Given the description of an element on the screen output the (x, y) to click on. 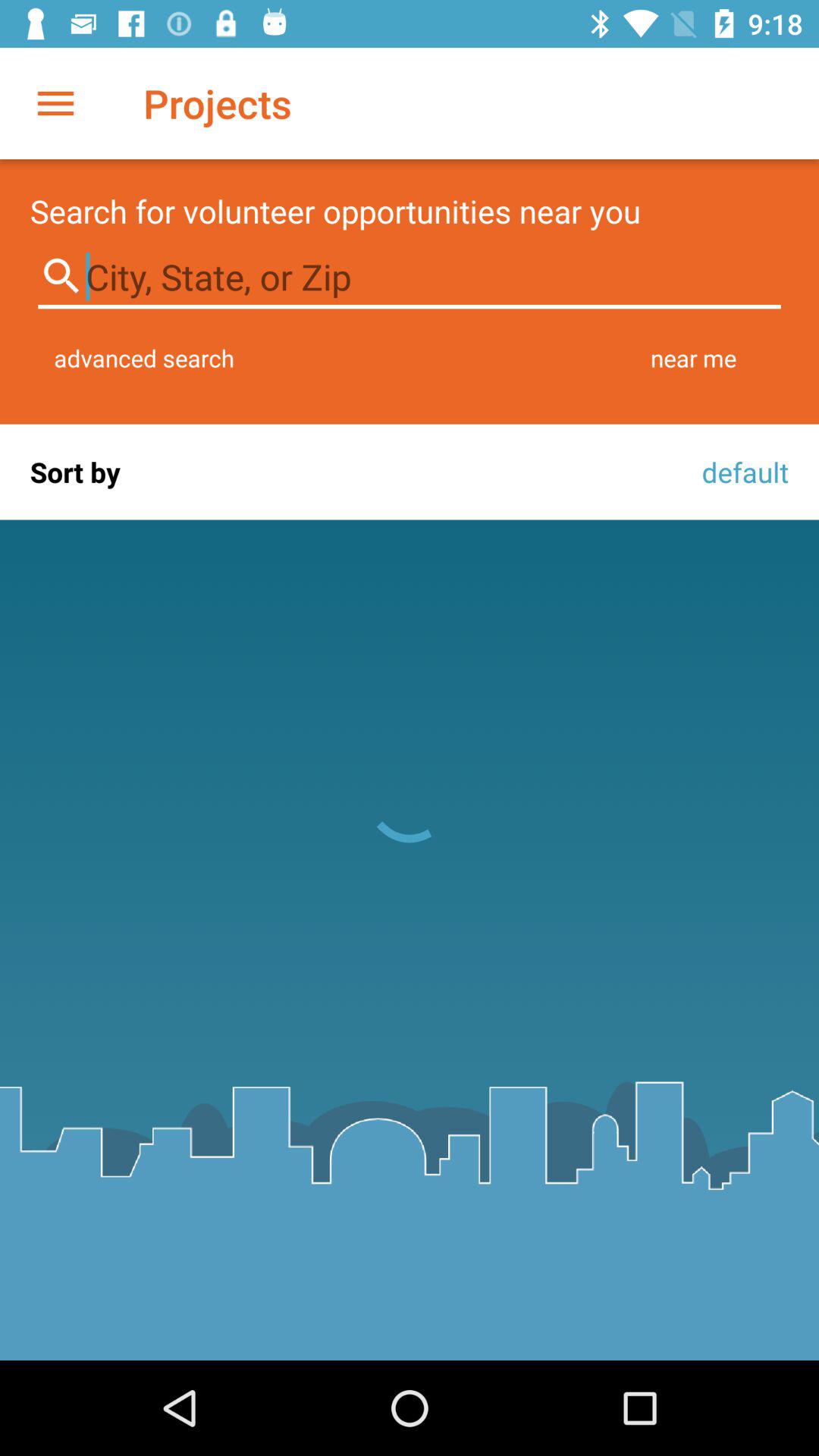
turn off advanced search (144, 358)
